Given the description of an element on the screen output the (x, y) to click on. 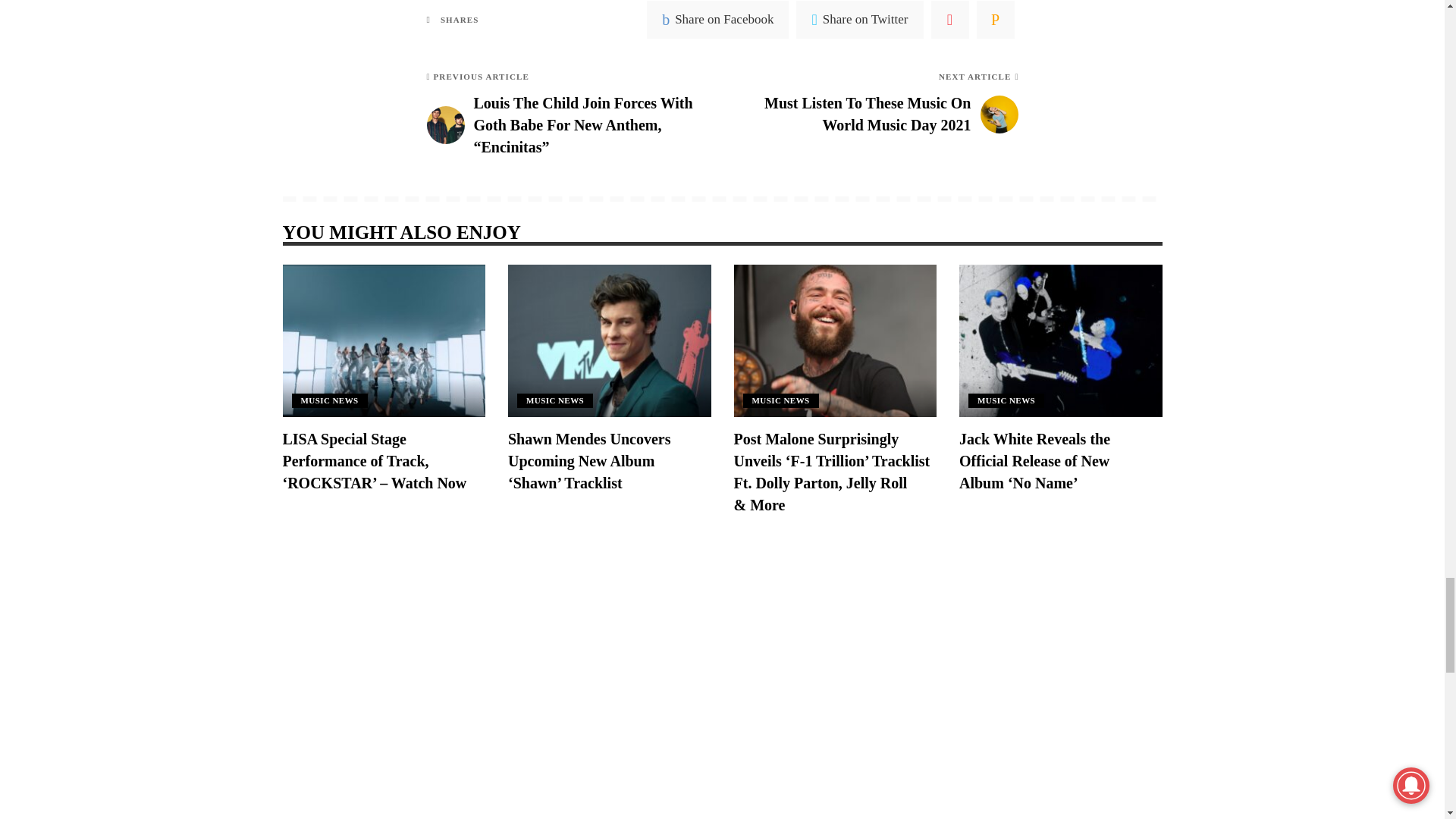
Facebook (717, 19)
Twitter (859, 19)
Share on Facebook (717, 19)
Pinterest (950, 19)
MUSIC NEWS (780, 400)
Share on Twitter (859, 19)
MUSIC NEWS (554, 400)
MUSIC NEWS (1005, 400)
Email (995, 19)
